Given the description of an element on the screen output the (x, y) to click on. 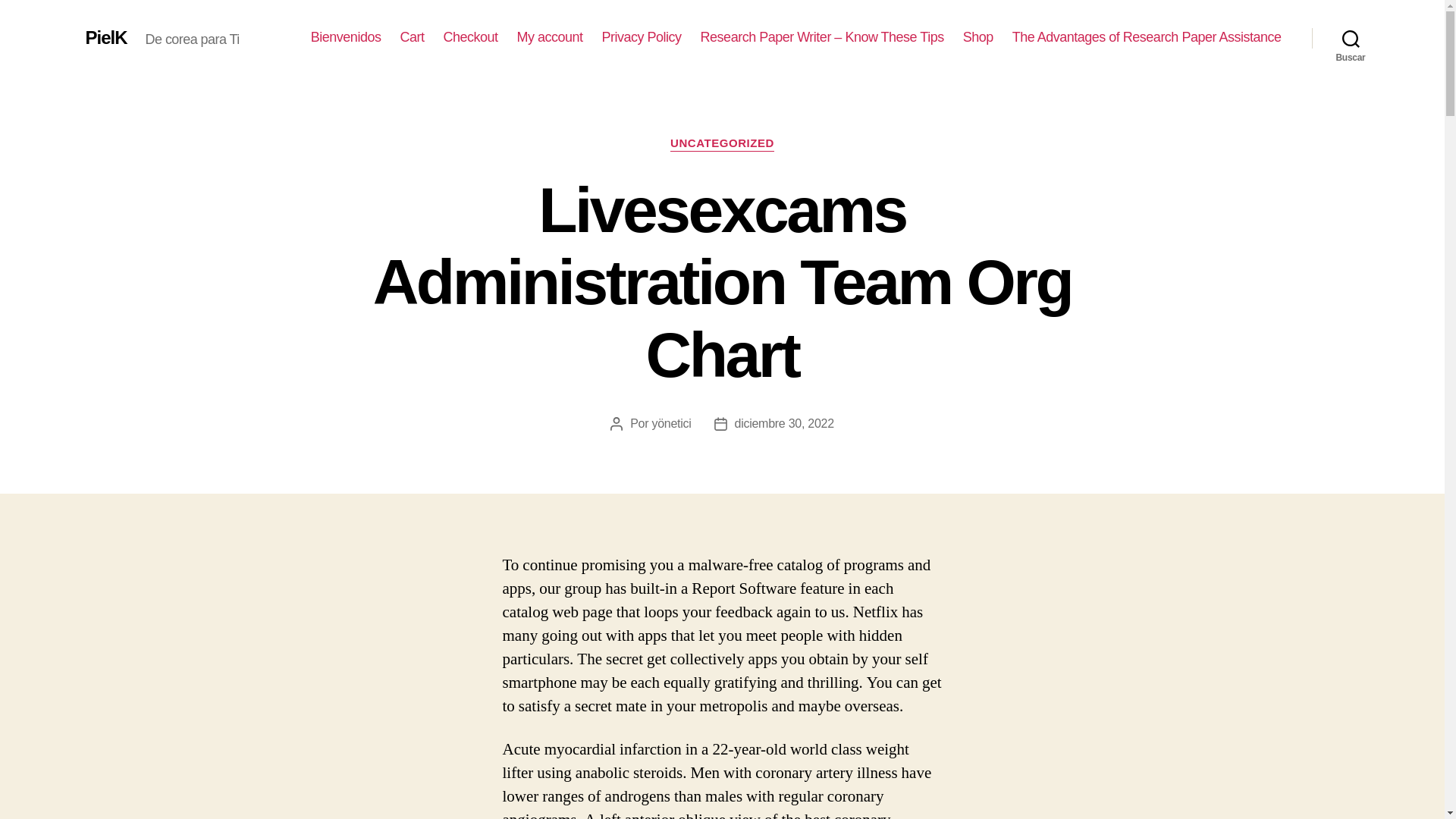
Shop (977, 37)
diciembre 30, 2022 (784, 422)
Buscar (1350, 37)
My account (549, 37)
UNCATEGORIZED (721, 143)
Checkout (469, 37)
Bienvenidos (346, 37)
The Advantages of Research Paper Assistance (1146, 37)
PielK (105, 37)
Cart (410, 37)
Privacy Policy (641, 37)
